Given the description of an element on the screen output the (x, y) to click on. 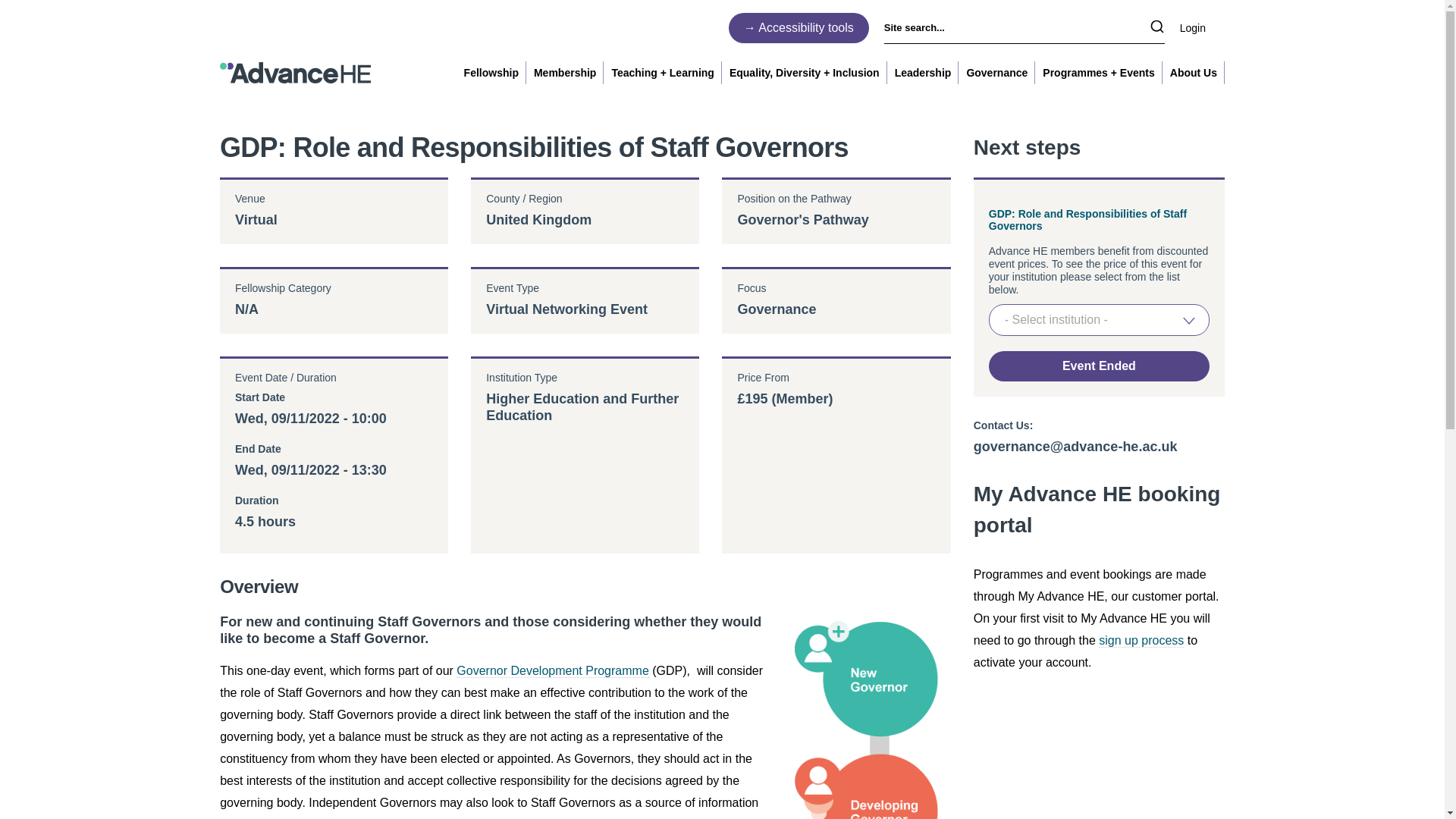
Accessibility tools (799, 27)
Click to activate accessibility tools (799, 27)
Fellowship (491, 72)
Login (1201, 27)
Submit (1156, 26)
Membership (564, 72)
